Given the description of an element on the screen output the (x, y) to click on. 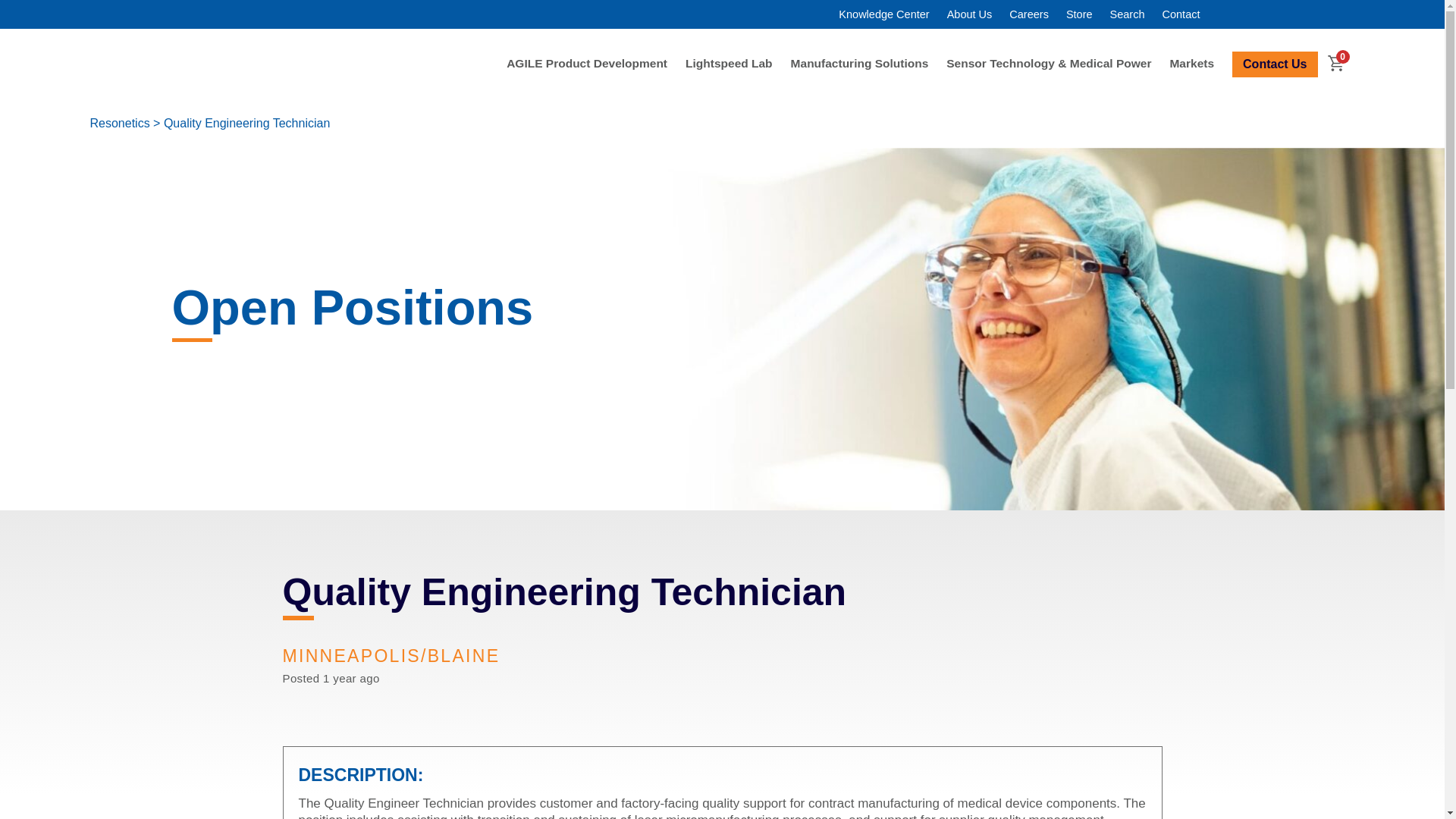
Search (1126, 14)
AGILE Product Development (586, 62)
Contact Us (1274, 63)
Lightspeed Lab (729, 62)
Careers (1028, 14)
About Us (969, 14)
Store (1079, 14)
Contact (1180, 14)
Knowledge Center (883, 14)
Manufacturing Solutions (859, 62)
